Given the description of an element on the screen output the (x, y) to click on. 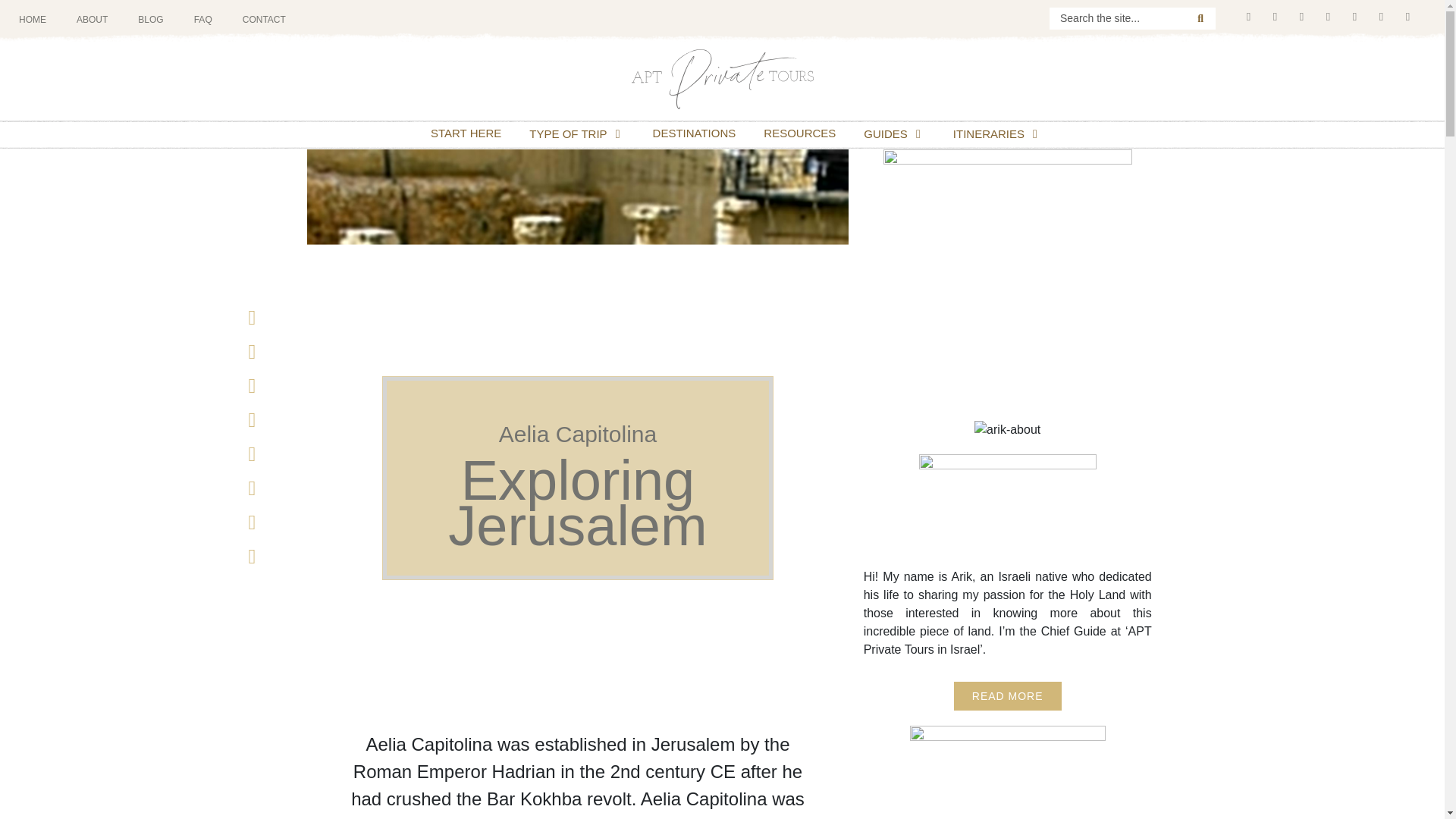
CONTACT (264, 19)
arik-about (1007, 429)
HOME (32, 19)
TYPE OF TRIP (568, 133)
START HERE (465, 132)
BLOG (149, 19)
ABOUT (91, 19)
FAQ (203, 19)
